Given the description of an element on the screen output the (x, y) to click on. 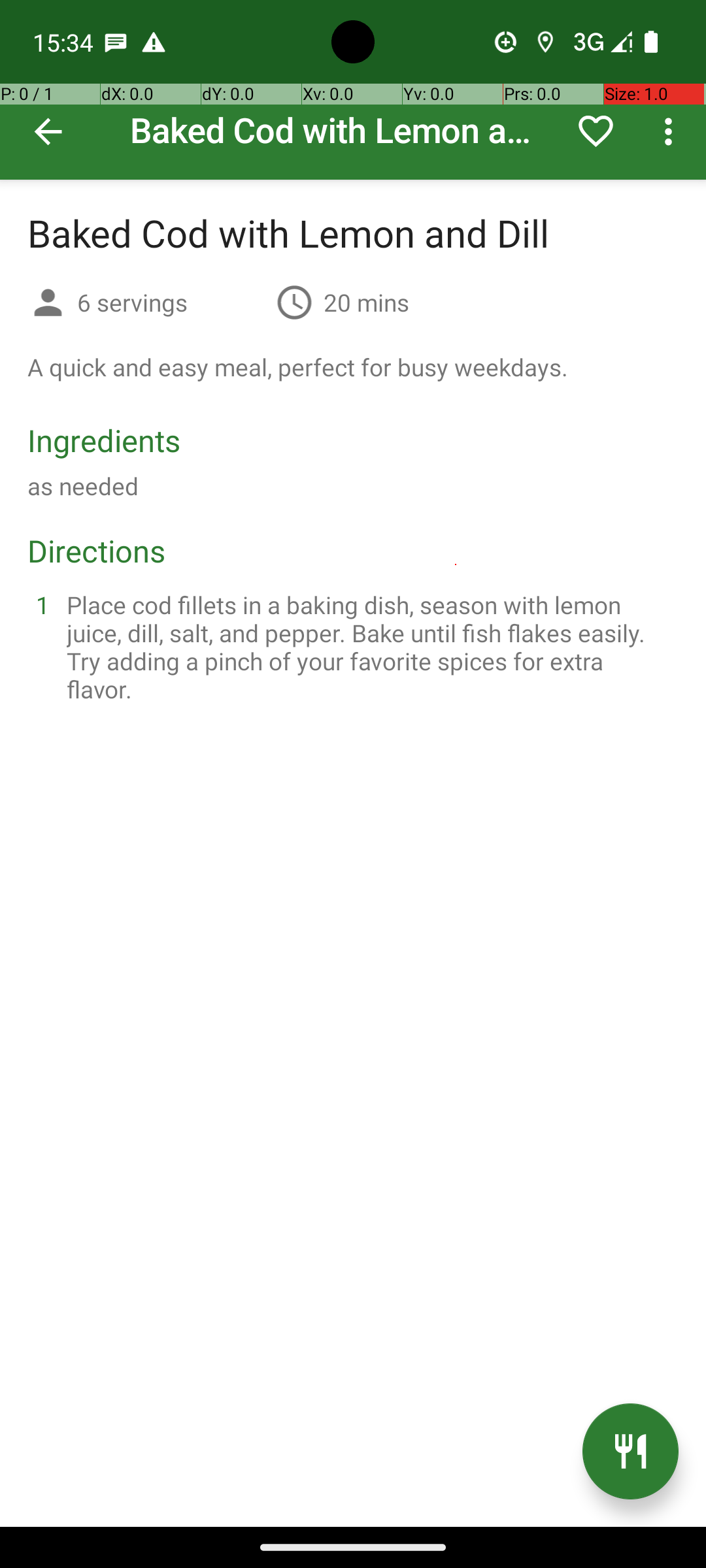
Place cod fillets in a baking dish, season with lemon juice, dill, salt, and pepper. Bake until fish flakes easily. Try adding a pinch of your favorite spices for extra flavor. Element type: android.widget.TextView (368, 646)
